Given the description of an element on the screen output the (x, y) to click on. 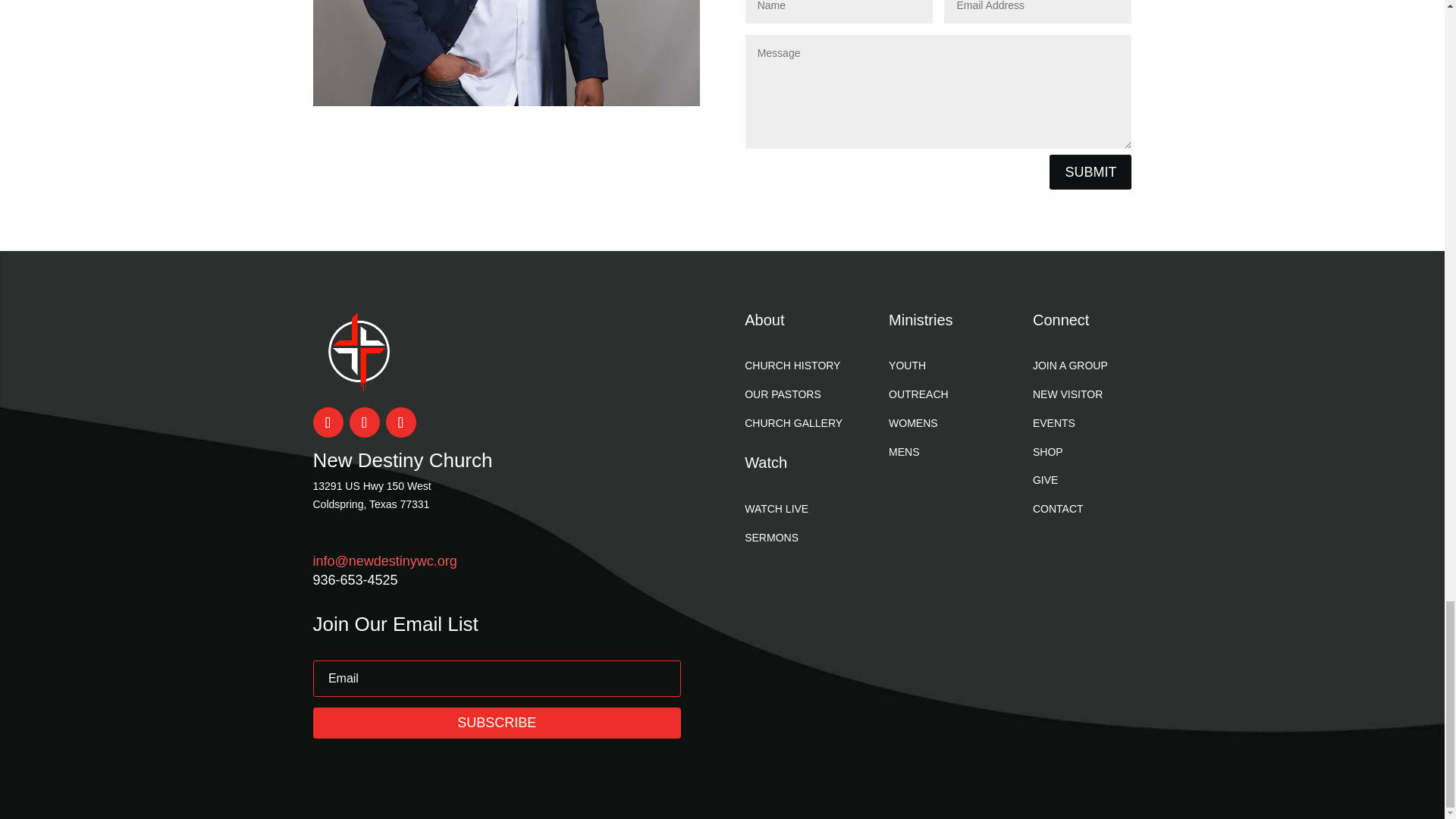
SUBMIT (1090, 171)
CHURCH HISTORY (792, 365)
OUR PASTORS (782, 394)
Follow on Youtube (363, 422)
Follow on Instagram (399, 422)
SUBSCRIBE (496, 722)
Follow on Facebook (327, 422)
